Given the description of an element on the screen output the (x, y) to click on. 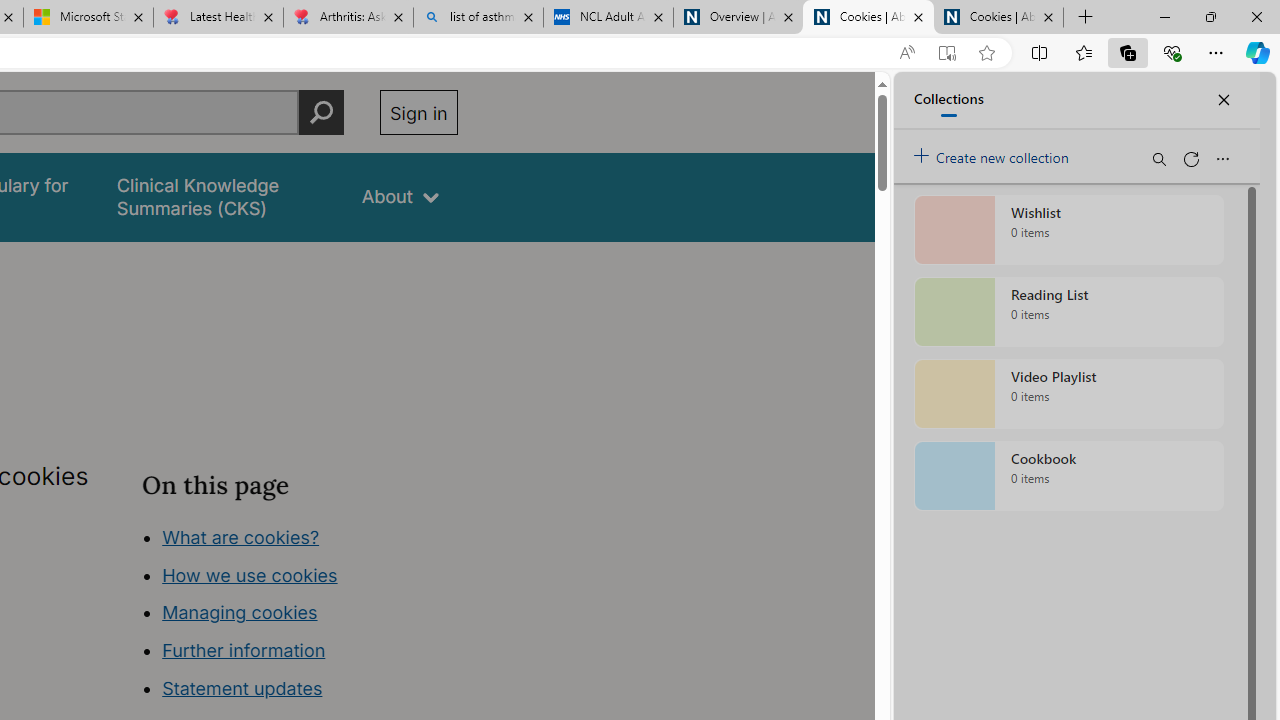
Statement updates (242, 688)
Further information (244, 650)
Class: in-page-nav__list (299, 615)
